Given the description of an element on the screen output the (x, y) to click on. 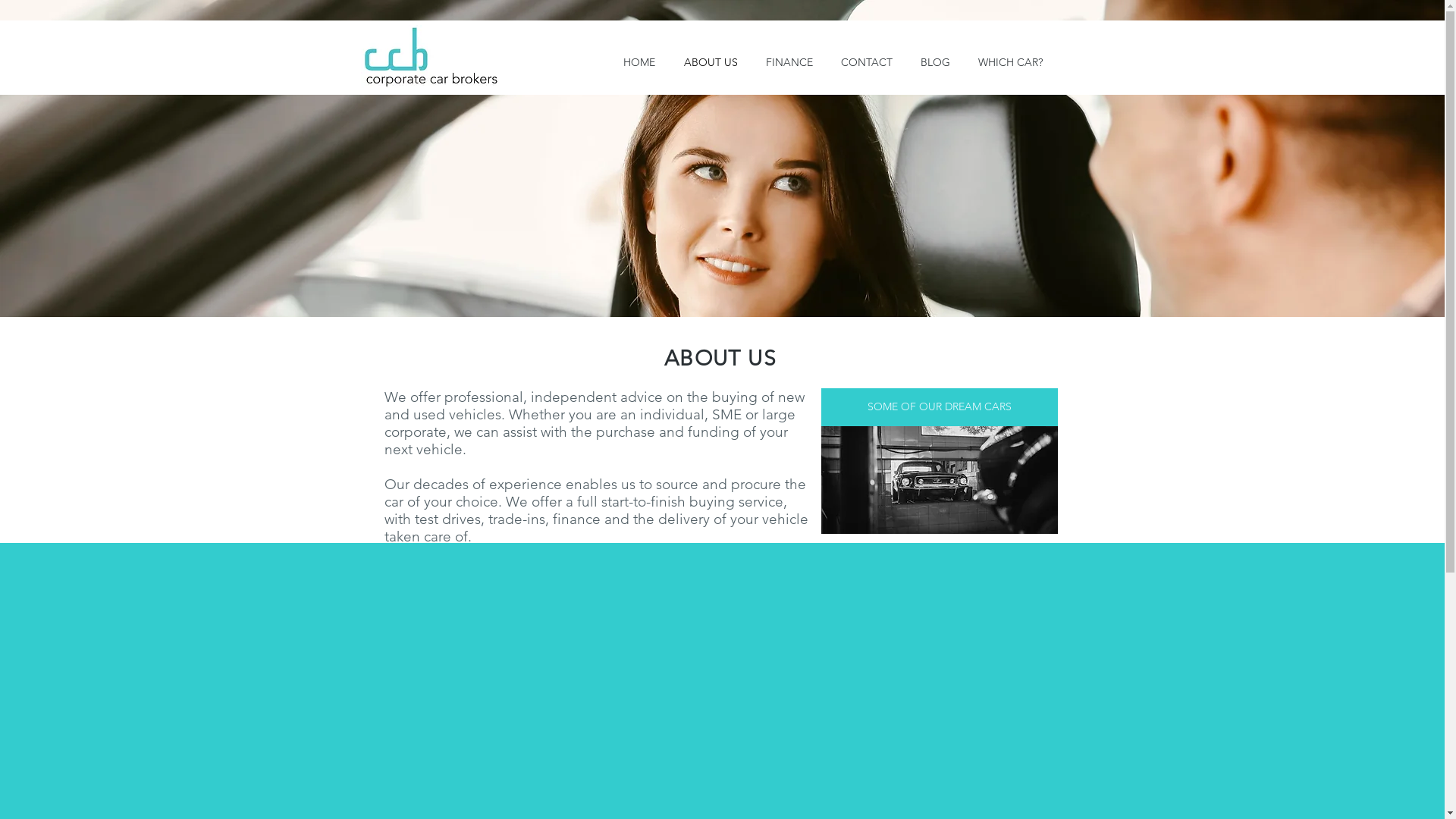
ABOUT US Element type: text (709, 62)
info@corporatecarbrokers.com.au Element type: text (531, 606)
CONTACT Element type: text (866, 62)
BLOG Element type: text (935, 62)
SOME OF OUR DREAM CARS Element type: text (938, 407)
1300 539 010 Element type: text (726, 606)
FINANCE Element type: text (789, 62)
HOME Element type: text (638, 62)
WHICH CAR? Element type: text (1010, 62)
